Given the description of an element on the screen output the (x, y) to click on. 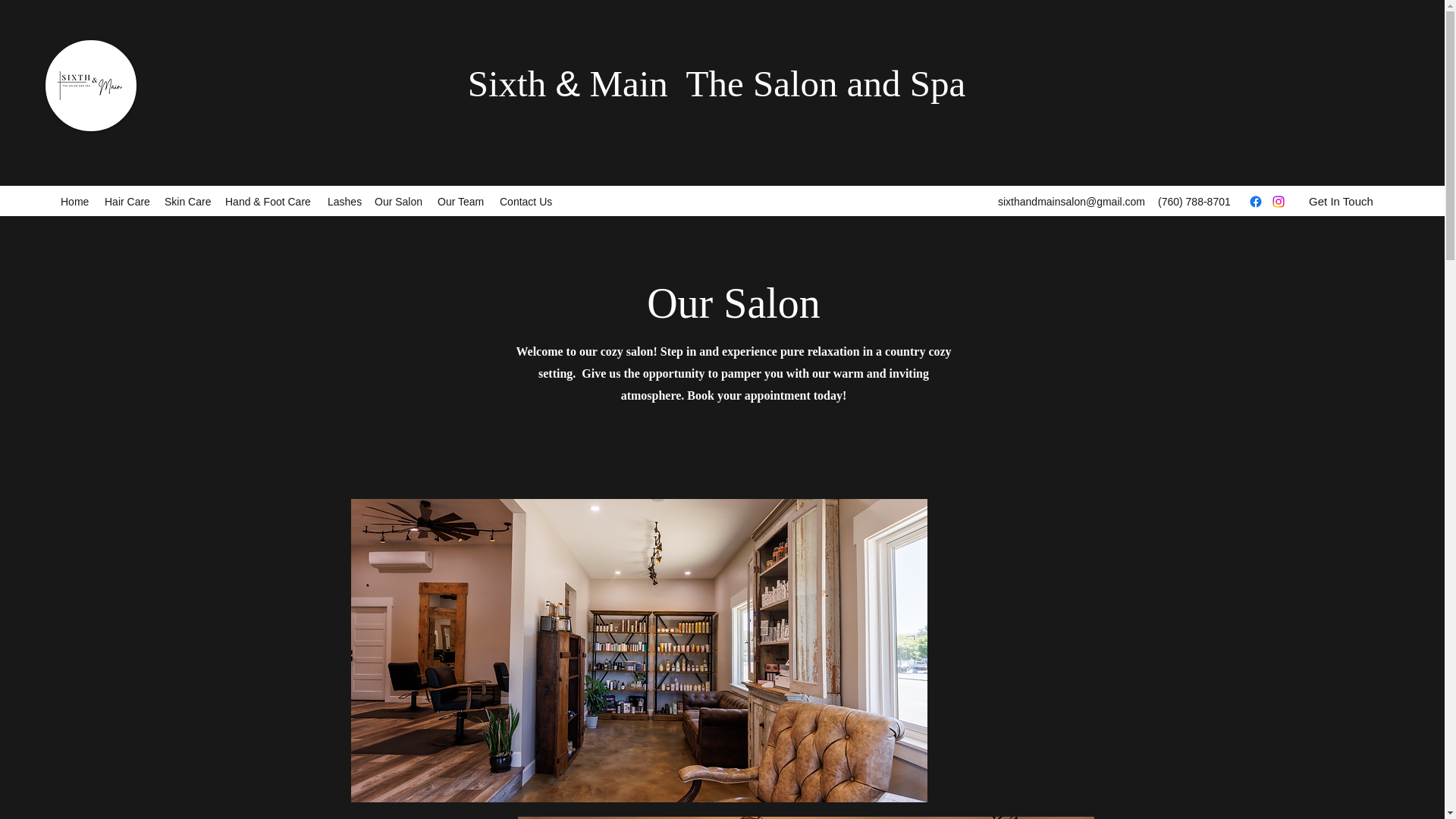
Contact Us (526, 201)
Get In Touch (1340, 201)
Home (74, 201)
Hair Care (127, 201)
Skin Care (186, 201)
Our Team (460, 201)
Lashes (343, 201)
Our Salon (397, 201)
